Given the description of an element on the screen output the (x, y) to click on. 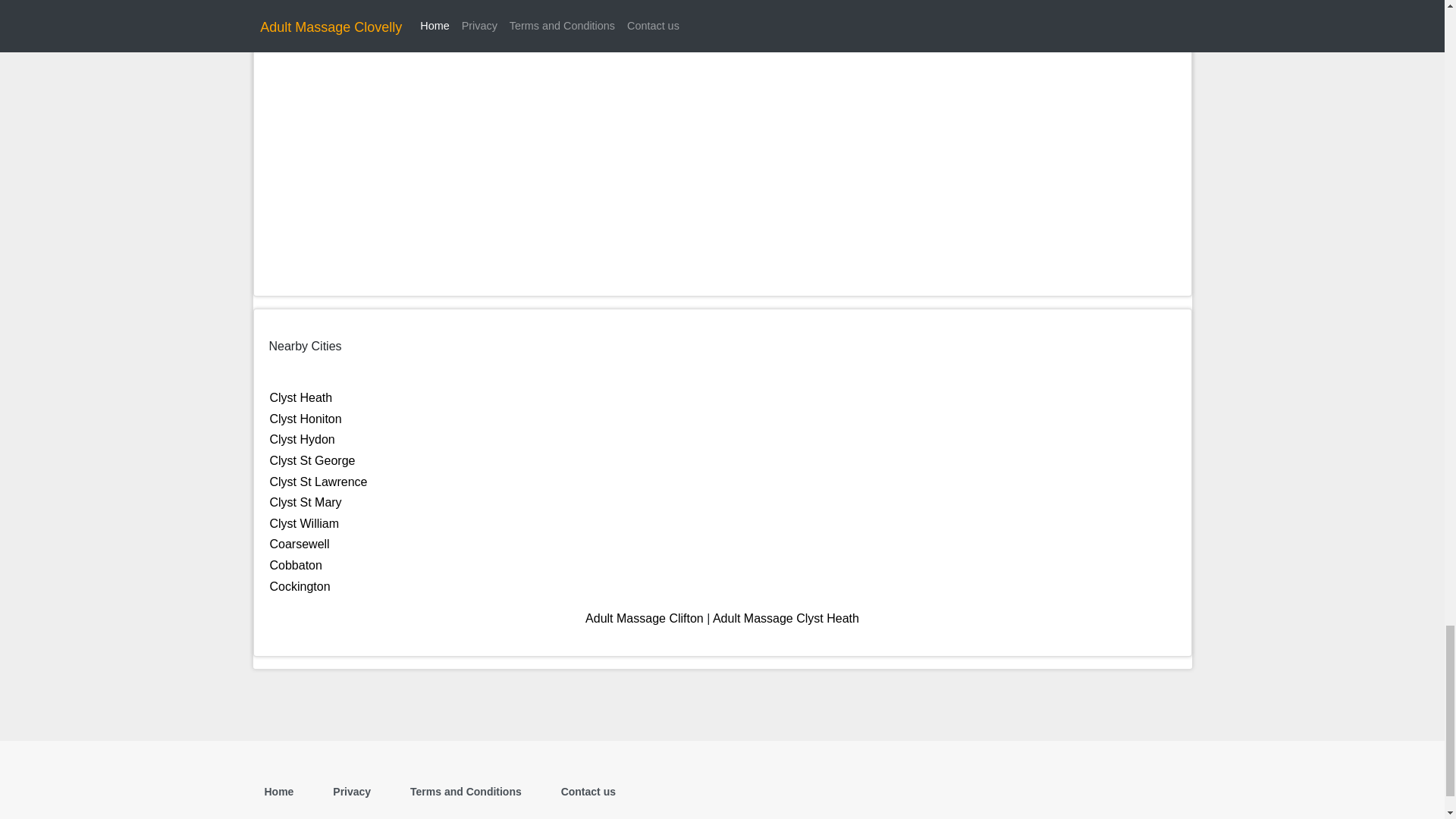
Adult Massage Clifton (644, 617)
Cockington (299, 585)
Clyst St George (312, 460)
Clyst Hydon (301, 439)
Clyst Heath (301, 397)
Clyst Honiton (305, 418)
Clyst St Mary (305, 502)
Clyst St Lawrence (318, 481)
Clyst William (304, 522)
Adult Massage Clyst Heath (786, 617)
